Given the description of an element on the screen output the (x, y) to click on. 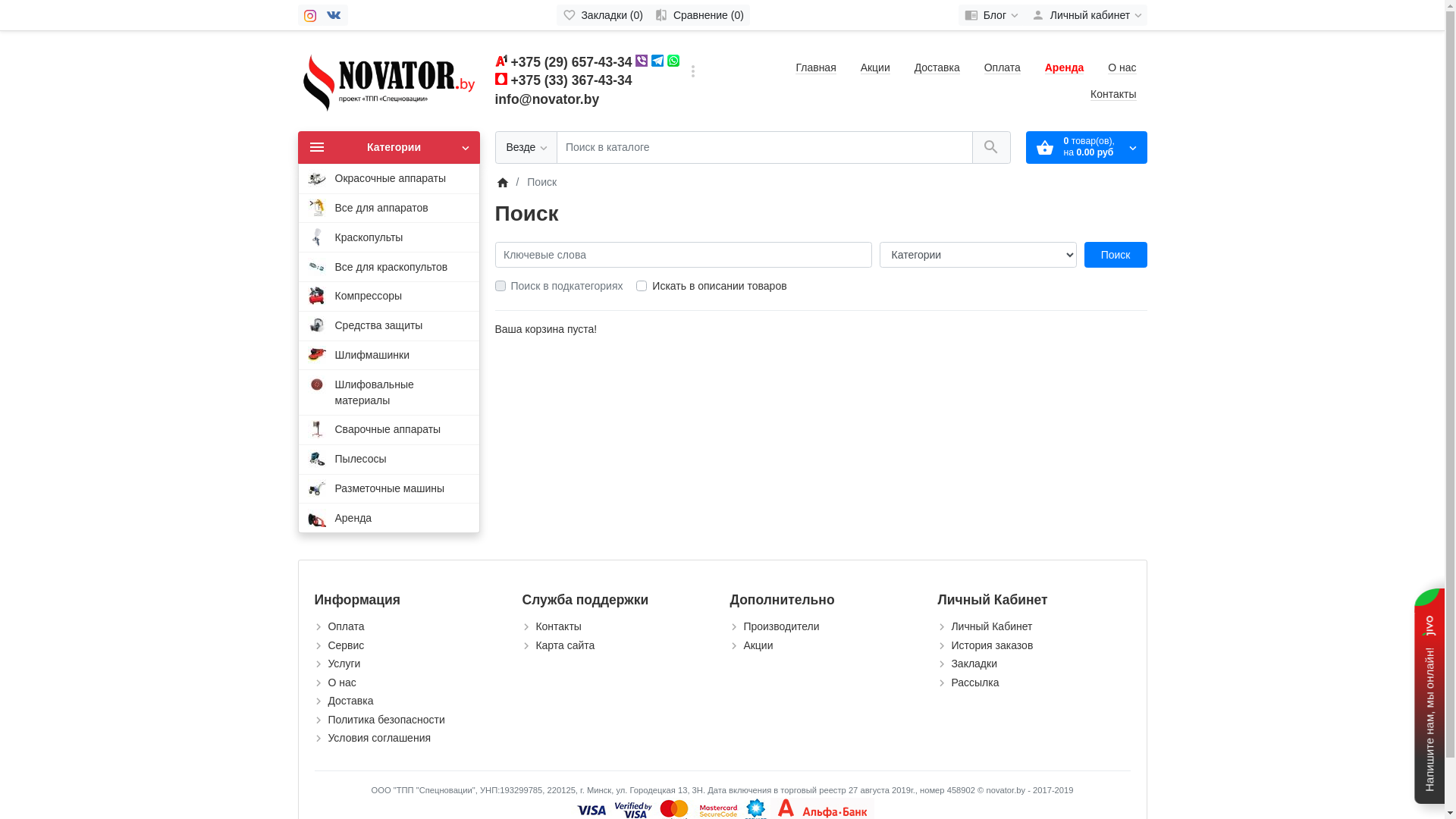
+375 (33) 367-43-34 Element type: text (571, 79)
+375 (29) 657-43-34 Element type: text (571, 61)
